Given the description of an element on the screen output the (x, y) to click on. 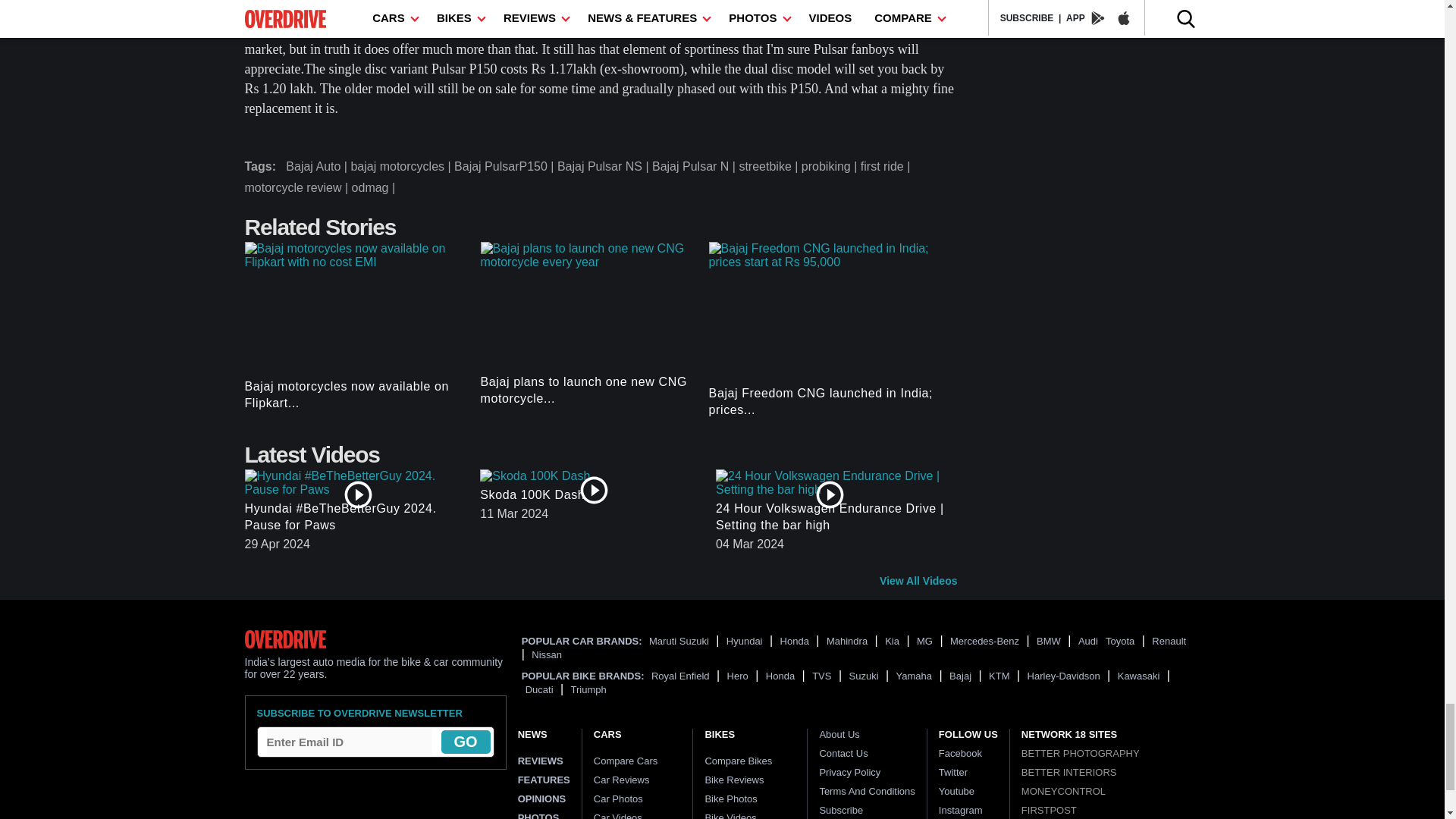
Bajaj PulsarP150 (505, 166)
go (465, 741)
Bajaj Pulsar NS (604, 166)
bajaj motorcycles (402, 166)
go (465, 741)
Bajaj Auto (317, 166)
